Given the description of an element on the screen output the (x, y) to click on. 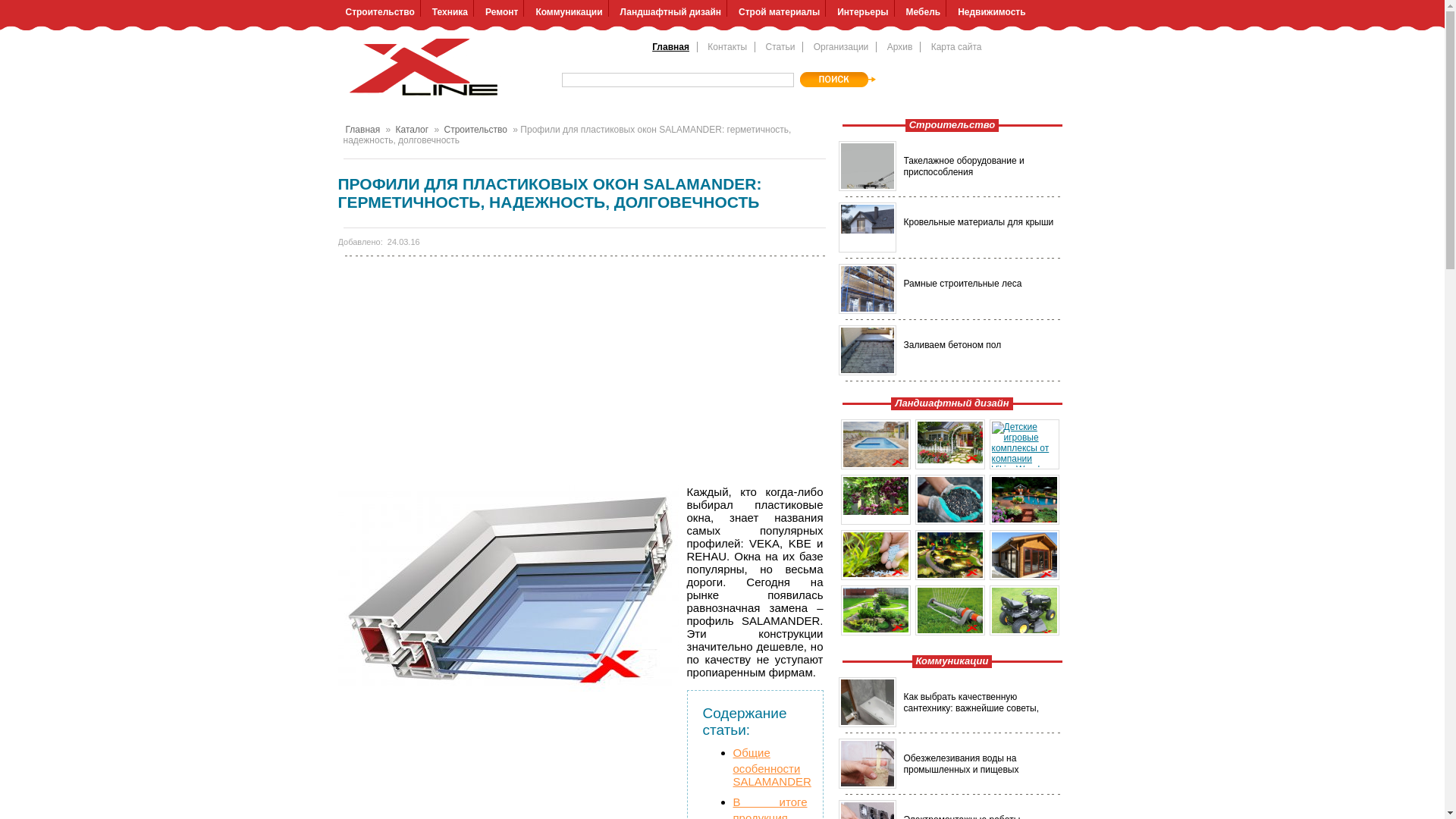
Advertisement Element type: hover (580, 367)
